Given the description of an element on the screen output the (x, y) to click on. 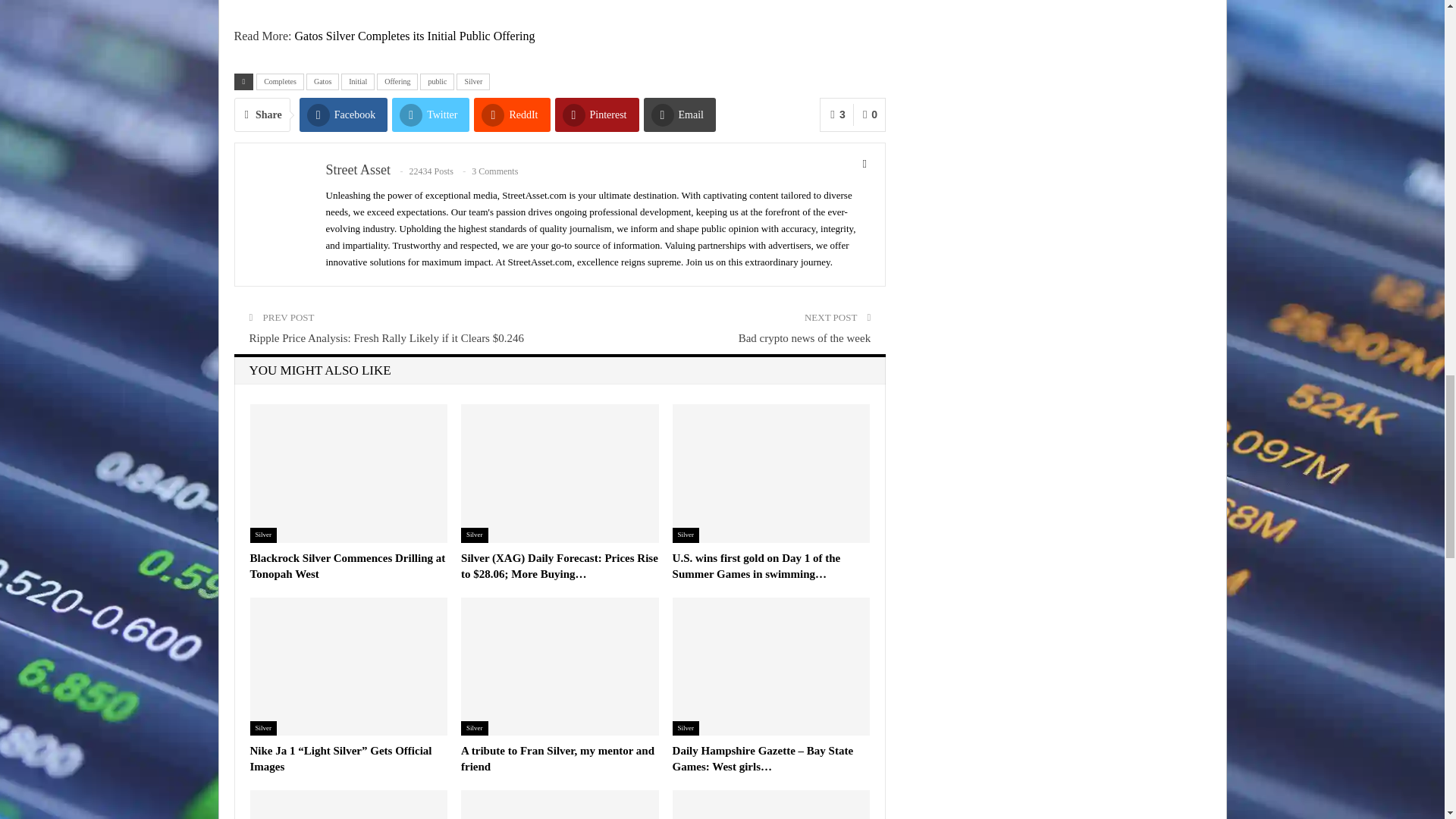
A tribute to Fran Silver, my mentor and friend (557, 758)
Blackrock Silver Commences Drilling at Tonopah West (347, 565)
Blackrock Silver Commences Drilling at Tonopah West (349, 473)
A tribute to Fran Silver, my mentor and friend (560, 666)
